Given the description of an element on the screen output the (x, y) to click on. 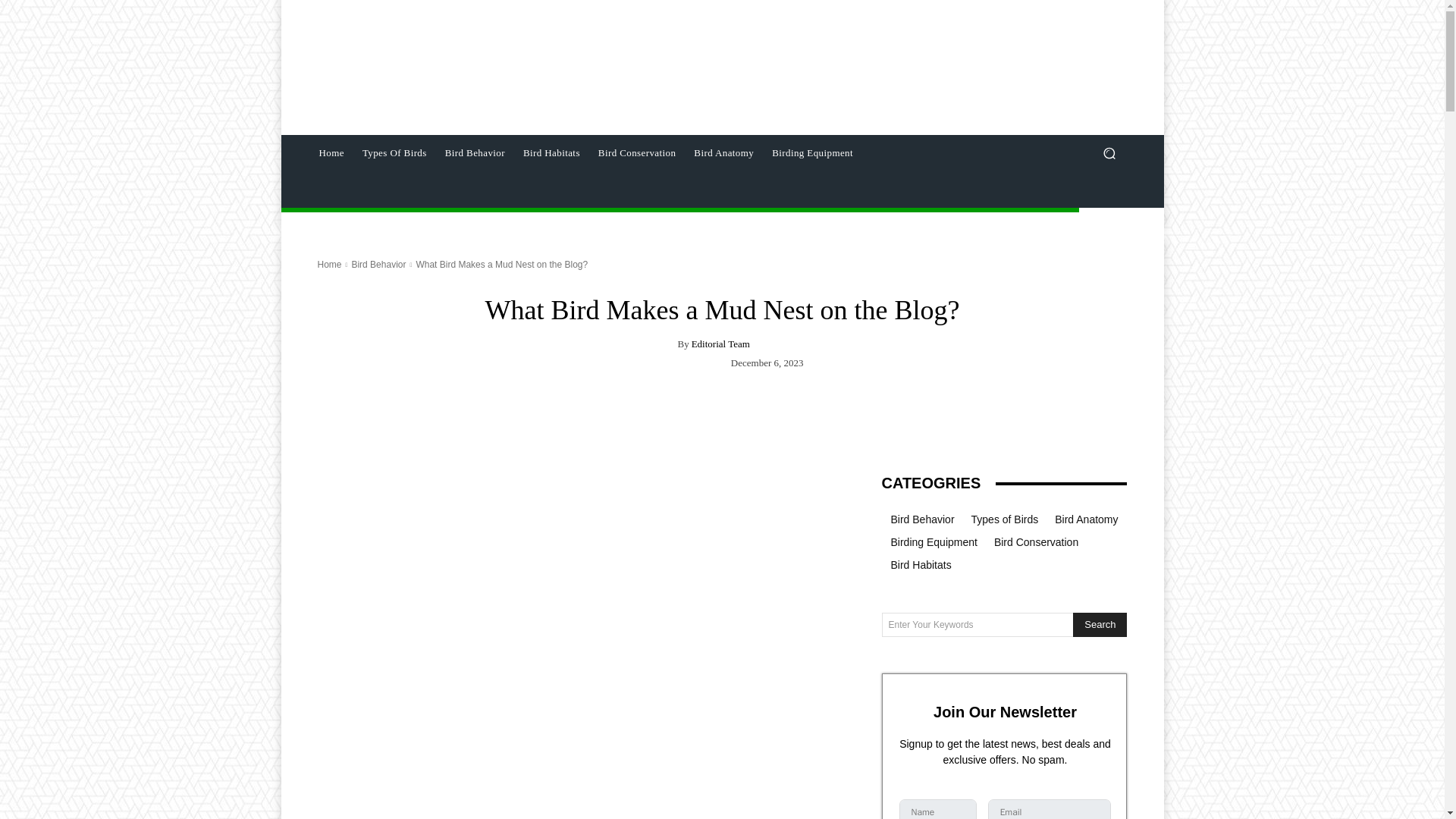
Editorial Team (720, 343)
Bird Anatomy (723, 153)
View all posts in Bird Behavior (378, 264)
Bird Behavior (474, 153)
Home (330, 153)
Home (328, 264)
Types Of Birds (394, 153)
Bird Habitats (551, 153)
Bird Conservation (637, 153)
Bird Behavior (378, 264)
